Given the description of an element on the screen output the (x, y) to click on. 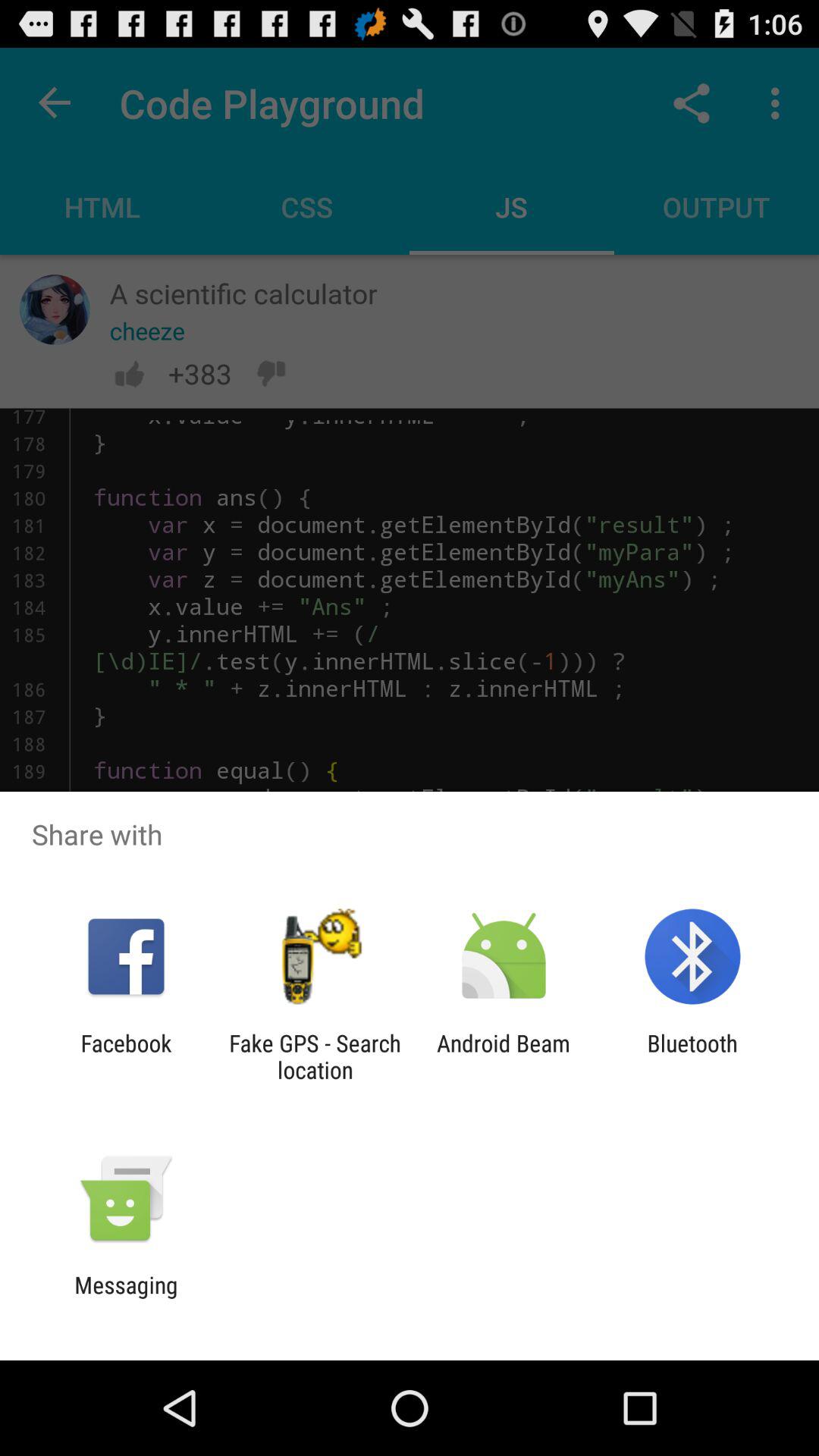
open the icon to the left of the bluetooth app (503, 1056)
